Given the description of an element on the screen output the (x, y) to click on. 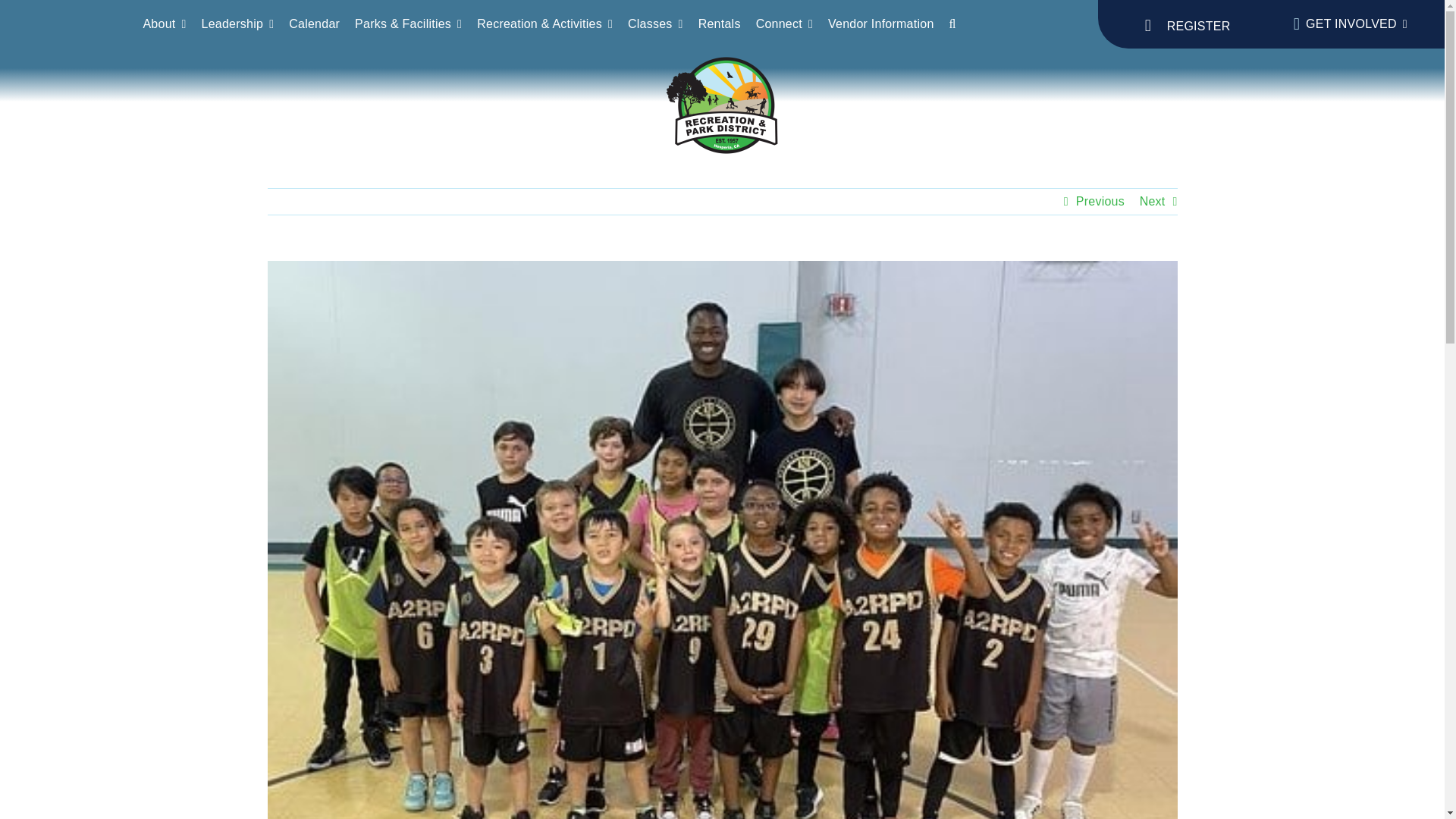
Calendar (321, 24)
About (171, 24)
Leadership (245, 24)
Get Involved (1347, 23)
Search (960, 24)
